Given the description of an element on the screen output the (x, y) to click on. 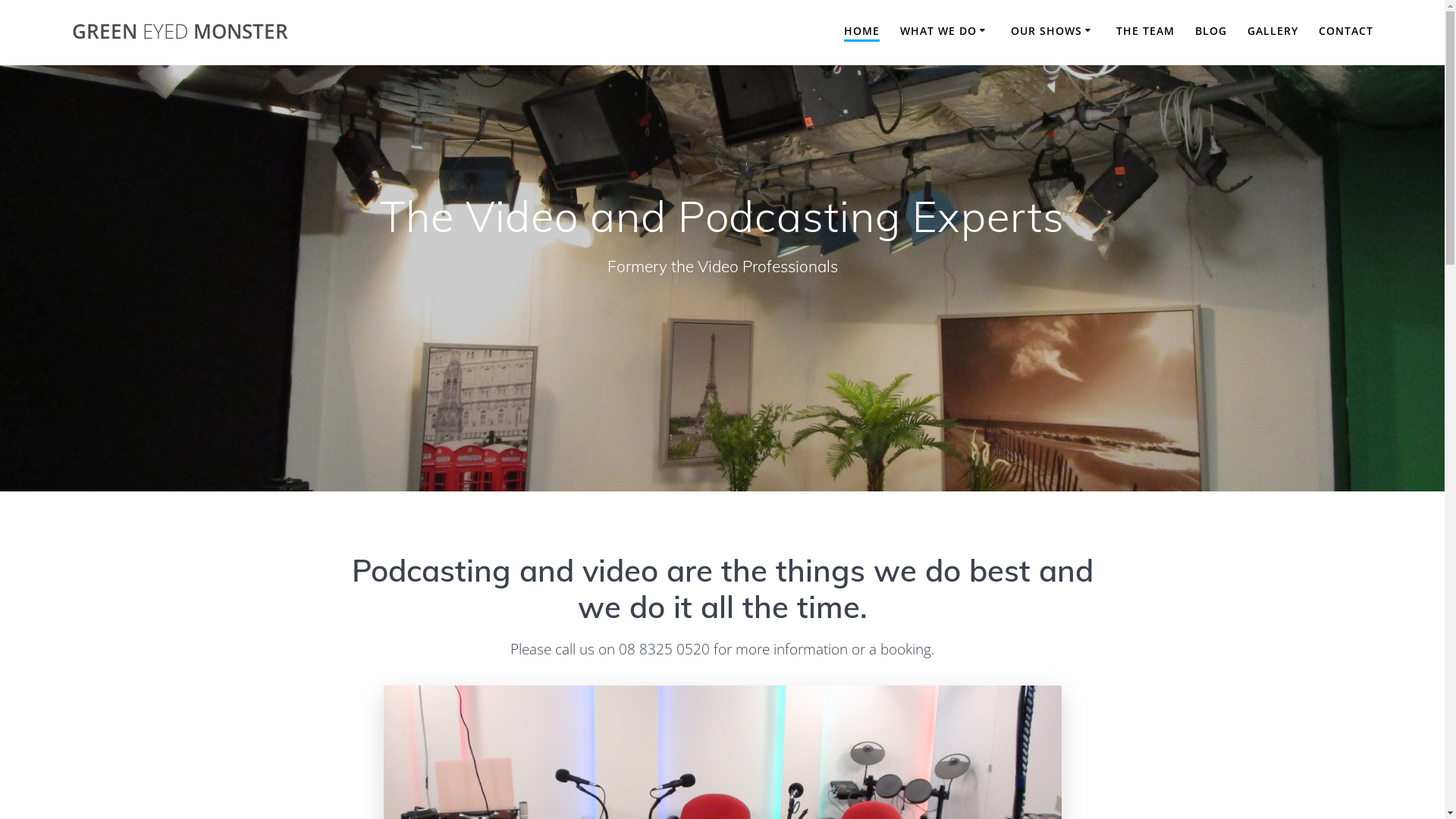
OUR SHOWS Element type: text (1052, 31)
HOME Element type: text (860, 31)
BLOG Element type: text (1210, 31)
CONTACT Element type: text (1345, 31)
THE TEAM Element type: text (1145, 31)
WHAT WE DO Element type: text (945, 31)
GALLERY Element type: text (1272, 31)
GREEN EYED MONSTER Element type: text (180, 31)
